Given the description of an element on the screen output the (x, y) to click on. 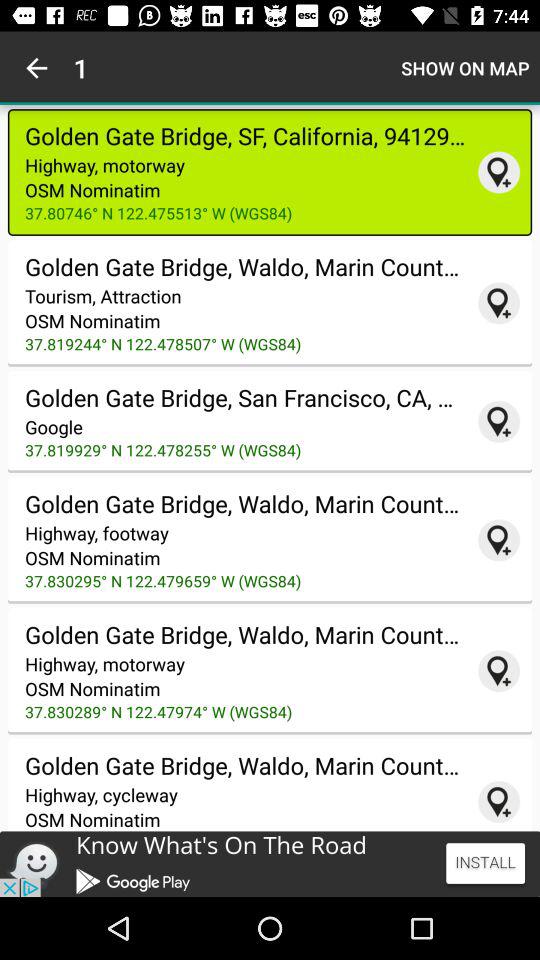
see location (499, 172)
